Given the description of an element on the screen output the (x, y) to click on. 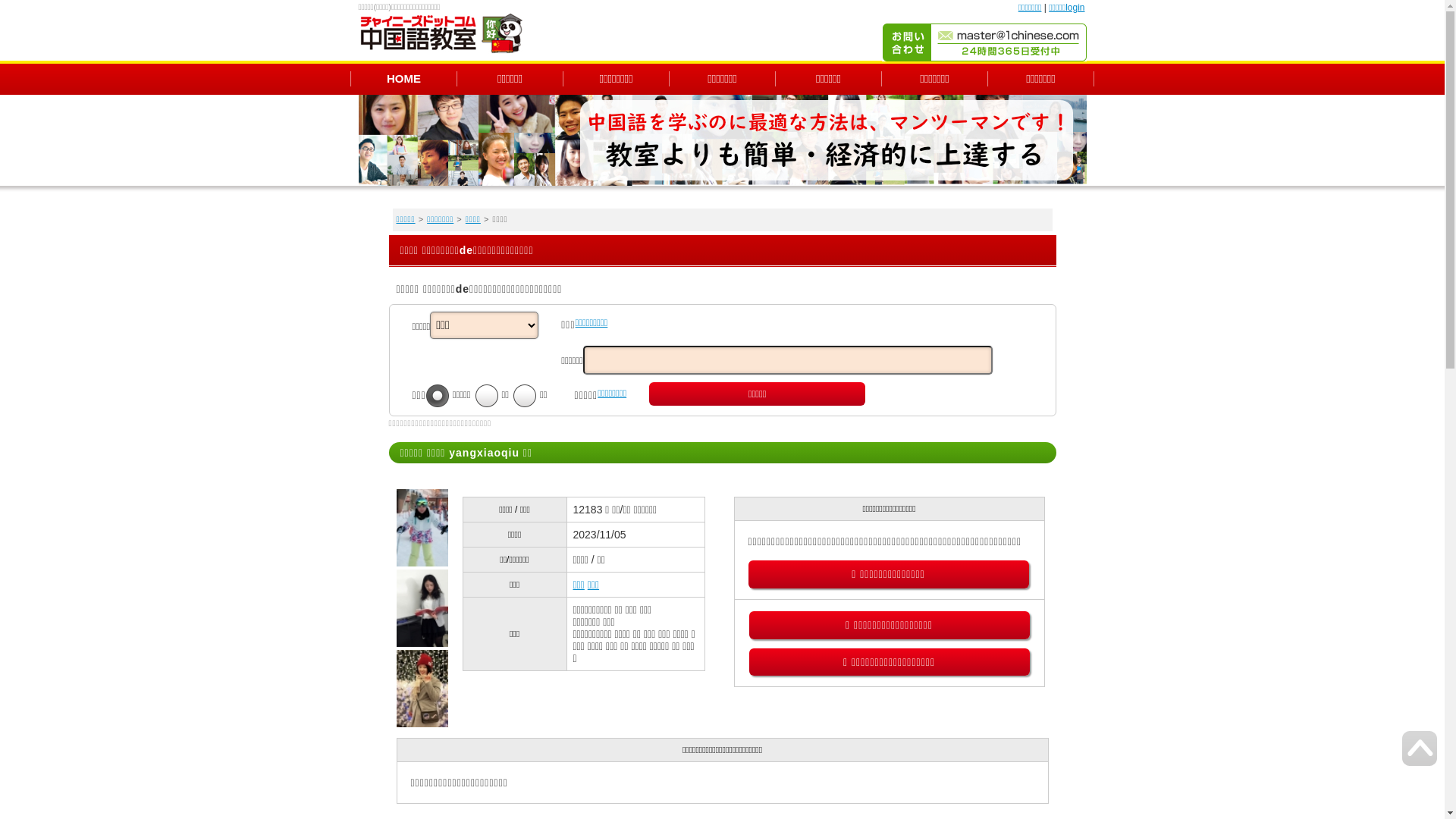
HOME Element type: text (403, 77)
